Given the description of an element on the screen output the (x, y) to click on. 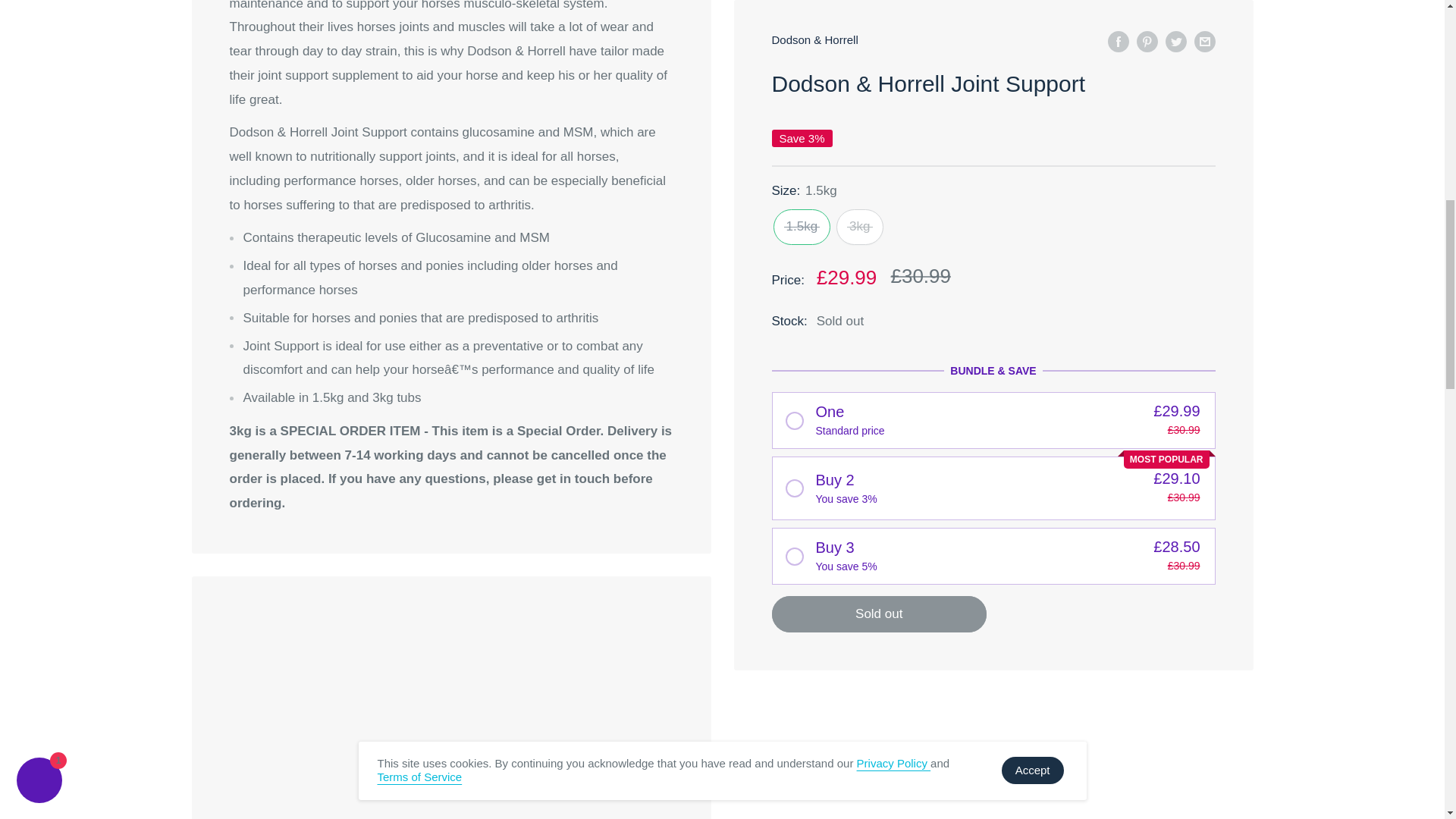
Customer reviews powered by Trustpilot (450, 697)
